Given the description of an element on the screen output the (x, y) to click on. 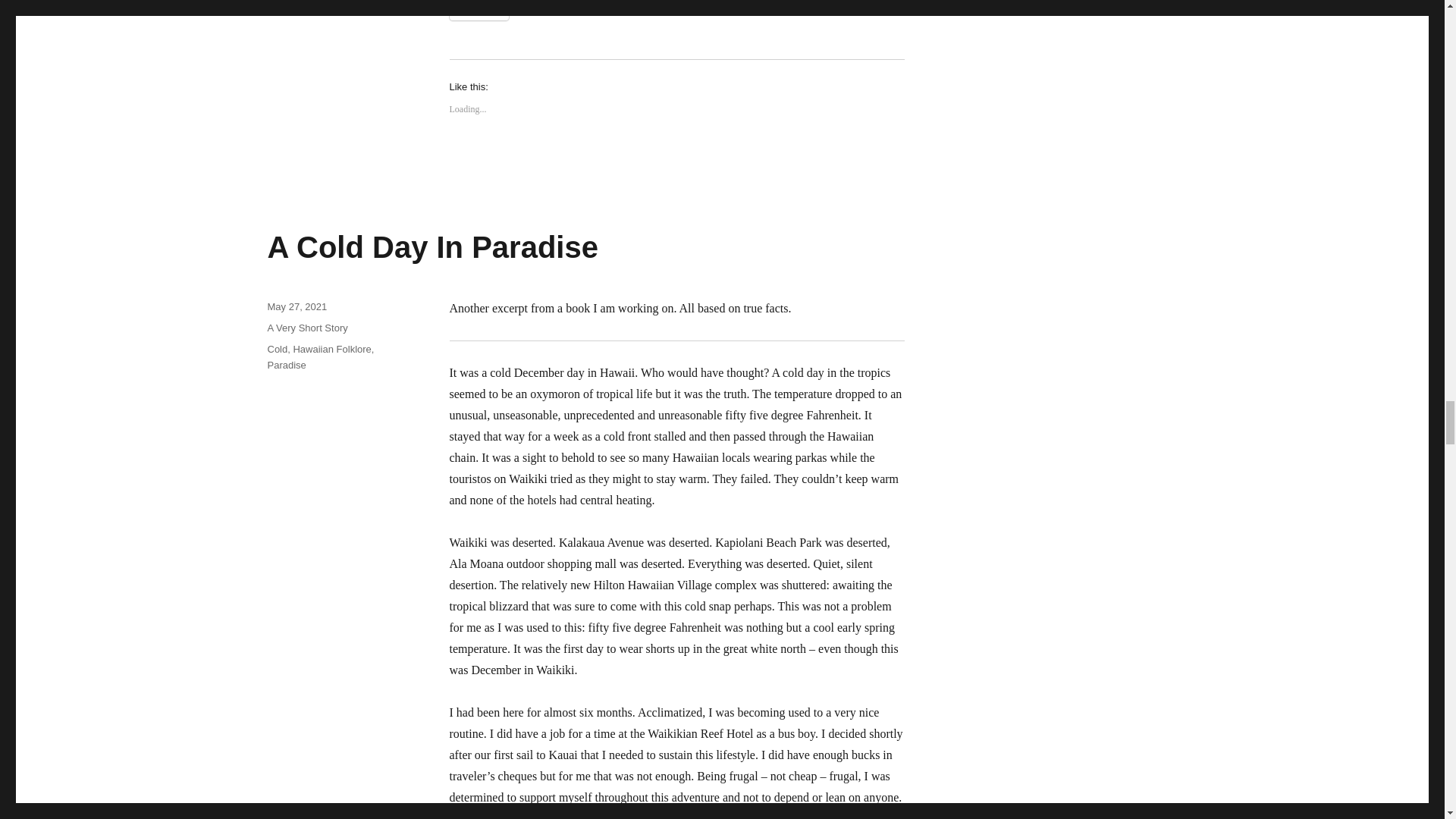
Share (478, 10)
A Cold Day In Paradise (431, 246)
